Given the description of an element on the screen output the (x, y) to click on. 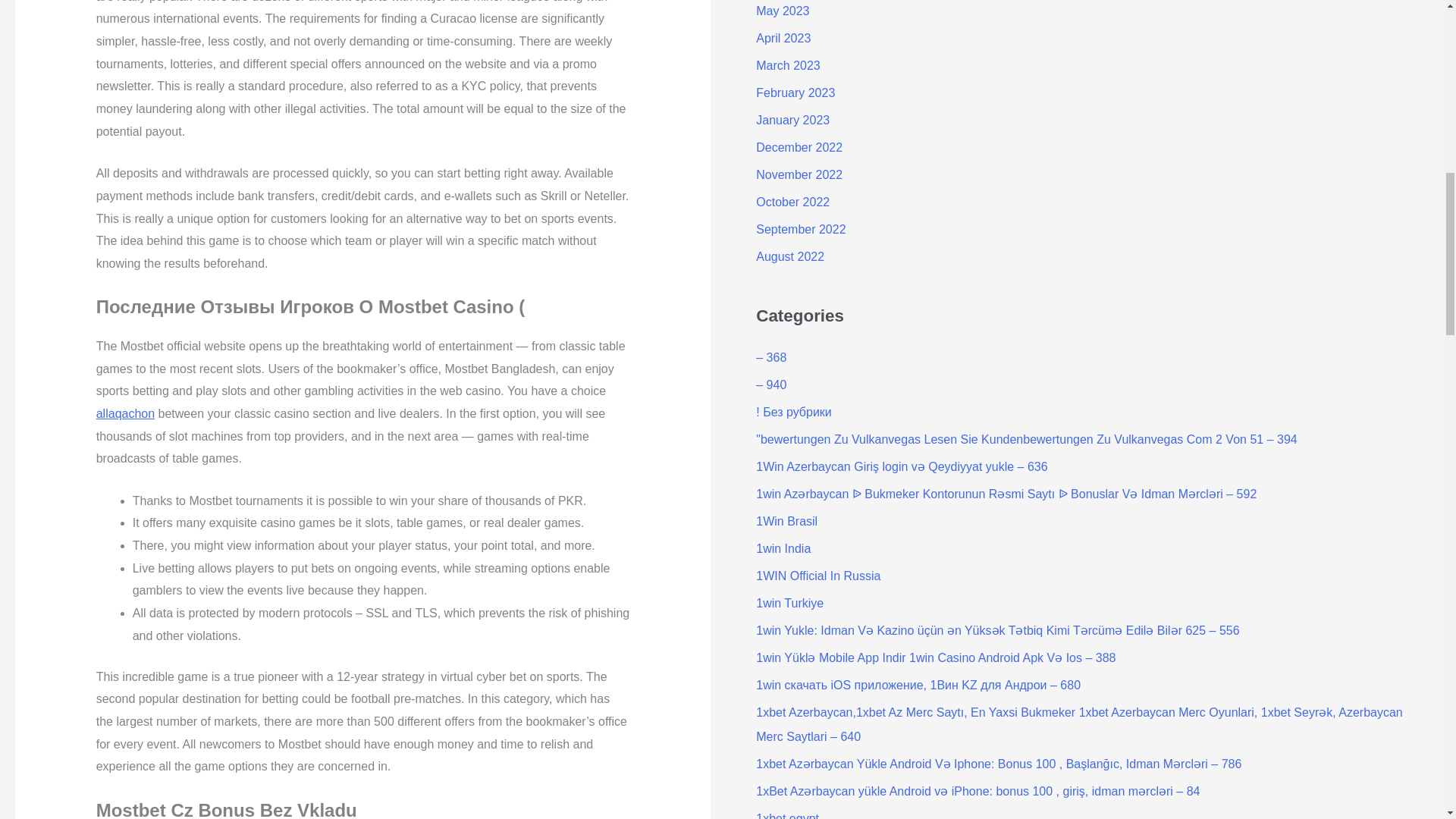
allaqachon (125, 413)
